Given the description of an element on the screen output the (x, y) to click on. 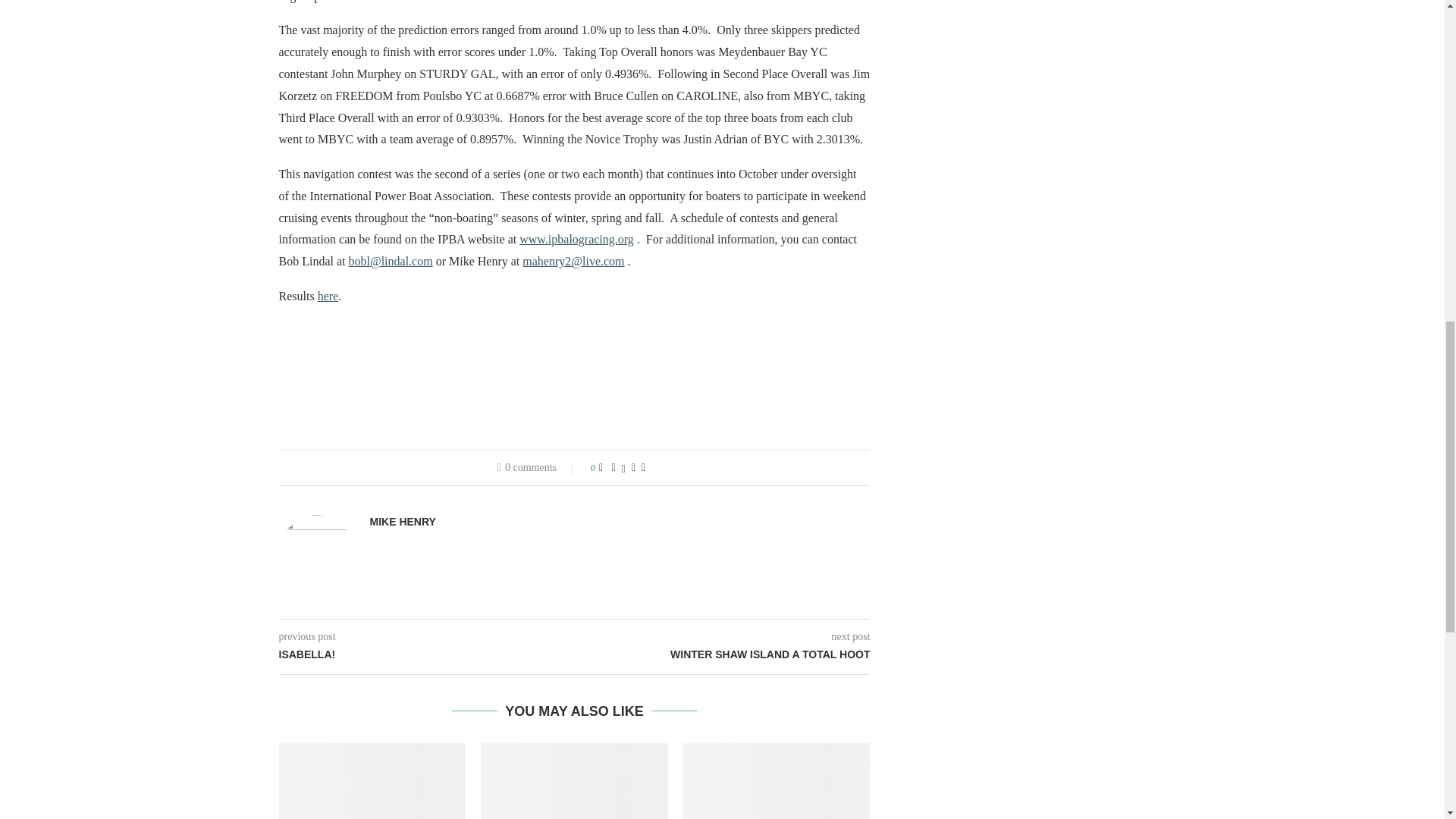
Sail to Steam (574, 780)
Author Mike Henry (402, 522)
Hydro Heroics (372, 780)
